Given the description of an element on the screen output the (x, y) to click on. 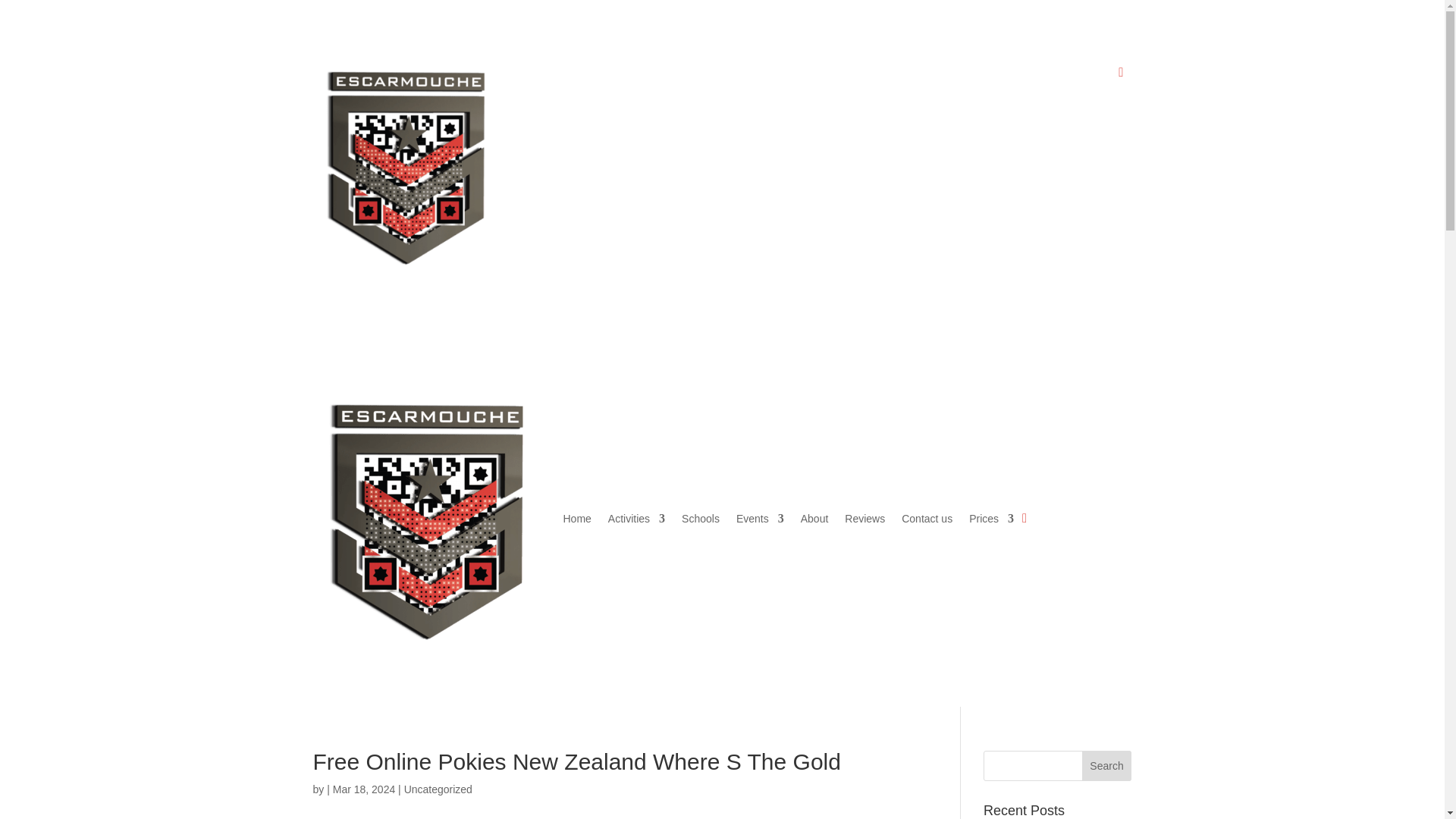
Reviews (961, 75)
Prices (1087, 75)
Contact us (1022, 75)
Events (856, 75)
Activities (732, 75)
Search (1106, 766)
Escarmouche (406, 165)
Schools (796, 75)
Home (673, 75)
About (910, 75)
